Given the description of an element on the screen output the (x, y) to click on. 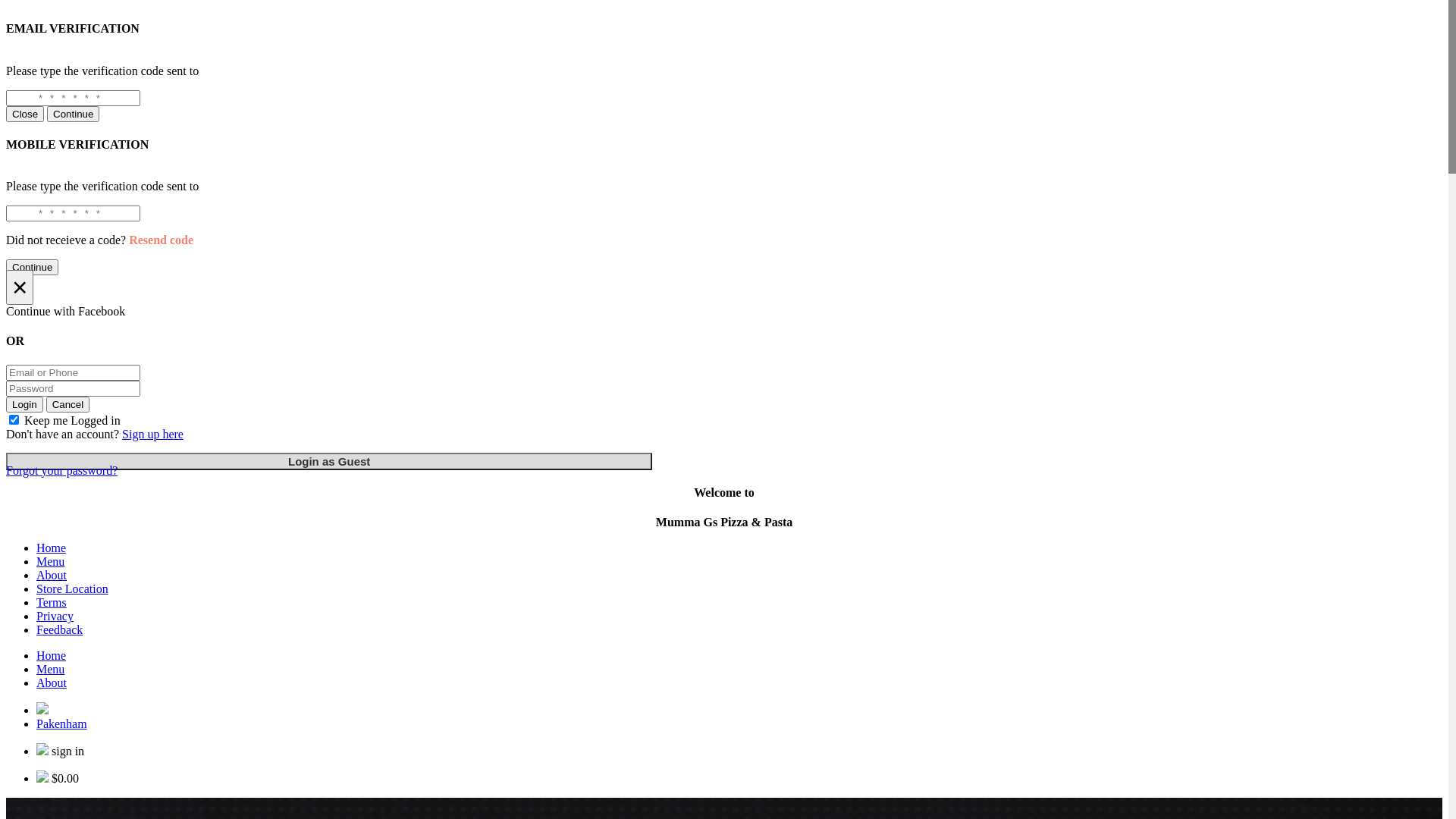
Continue Element type: text (73, 114)
Login as Guest Element type: text (329, 461)
Home Element type: text (50, 655)
Continue Element type: text (32, 267)
Feedback Element type: text (59, 629)
Terms Element type: text (51, 602)
Pakenham Element type: text (61, 723)
Login as Guest Element type: text (329, 461)
Menu Element type: text (50, 561)
Menu Element type: text (50, 668)
Privacy Element type: text (54, 615)
Login Element type: text (24, 404)
Home Element type: text (50, 547)
About Element type: text (51, 574)
Store Location Element type: text (72, 588)
Cancel Element type: text (68, 404)
Sign up here Element type: text (152, 433)
Continue with Facebook Element type: text (724, 311)
About Element type: text (51, 682)
Close Element type: text (24, 114)
Forgot your password? Element type: text (61, 470)
